Given the description of an element on the screen output the (x, y) to click on. 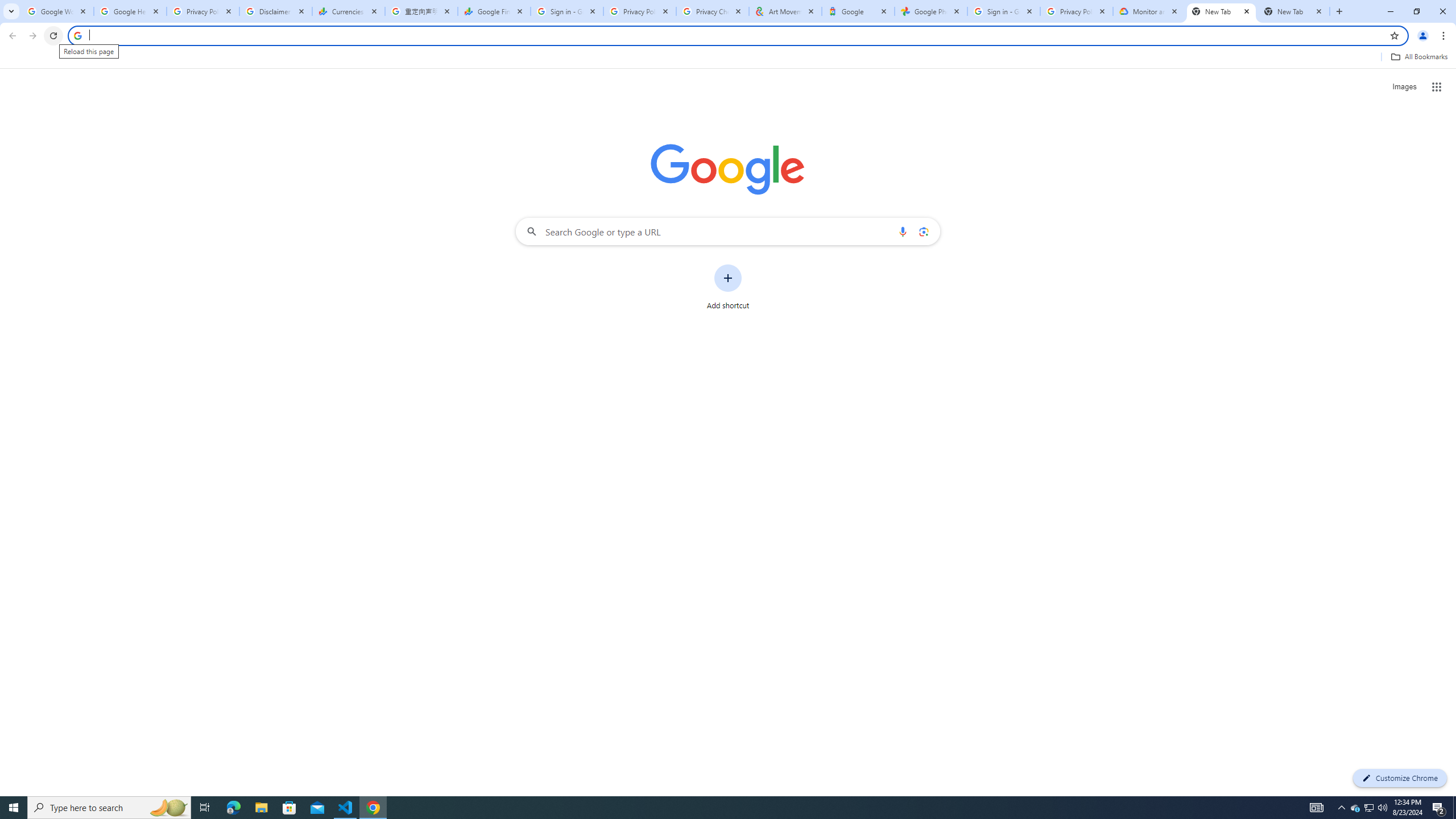
Address and search bar (735, 35)
Add shortcut (727, 287)
Customize Chrome (1399, 778)
Google apps (1436, 86)
All Bookmarks (1418, 56)
Search icon (77, 35)
